Given the description of an element on the screen output the (x, y) to click on. 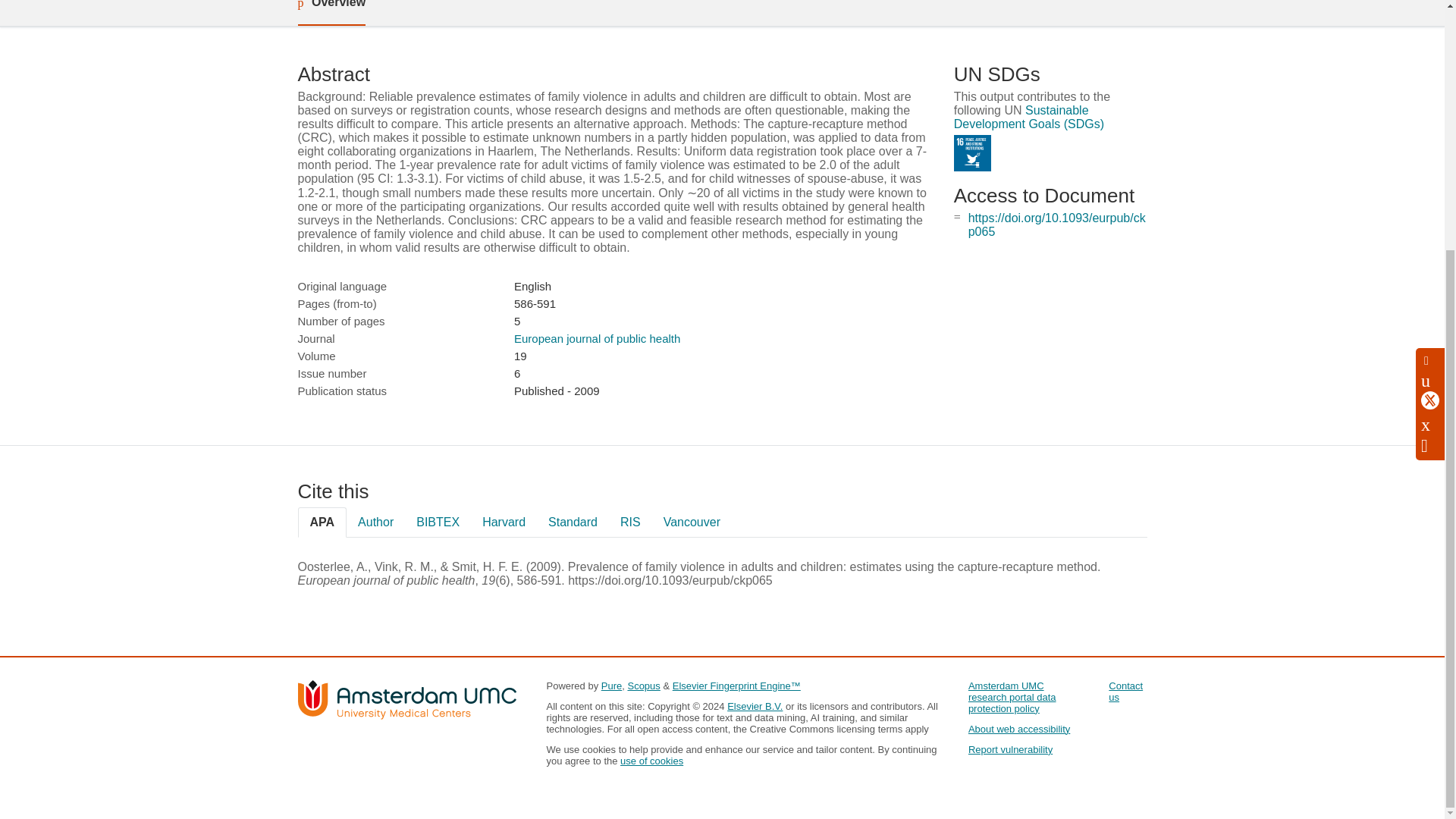
SDG 16 - Peace, Justice and Strong Institutions (972, 153)
Elsevier B.V. (754, 706)
Pure (611, 685)
Overview (331, 12)
Amsterdam UMC research portal data protection policy (1012, 697)
European journal of public health (596, 338)
Report vulnerability (1010, 749)
use of cookies (651, 760)
Scopus (643, 685)
About web accessibility (1019, 728)
Contact us (1125, 691)
